Given the description of an element on the screen output the (x, y) to click on. 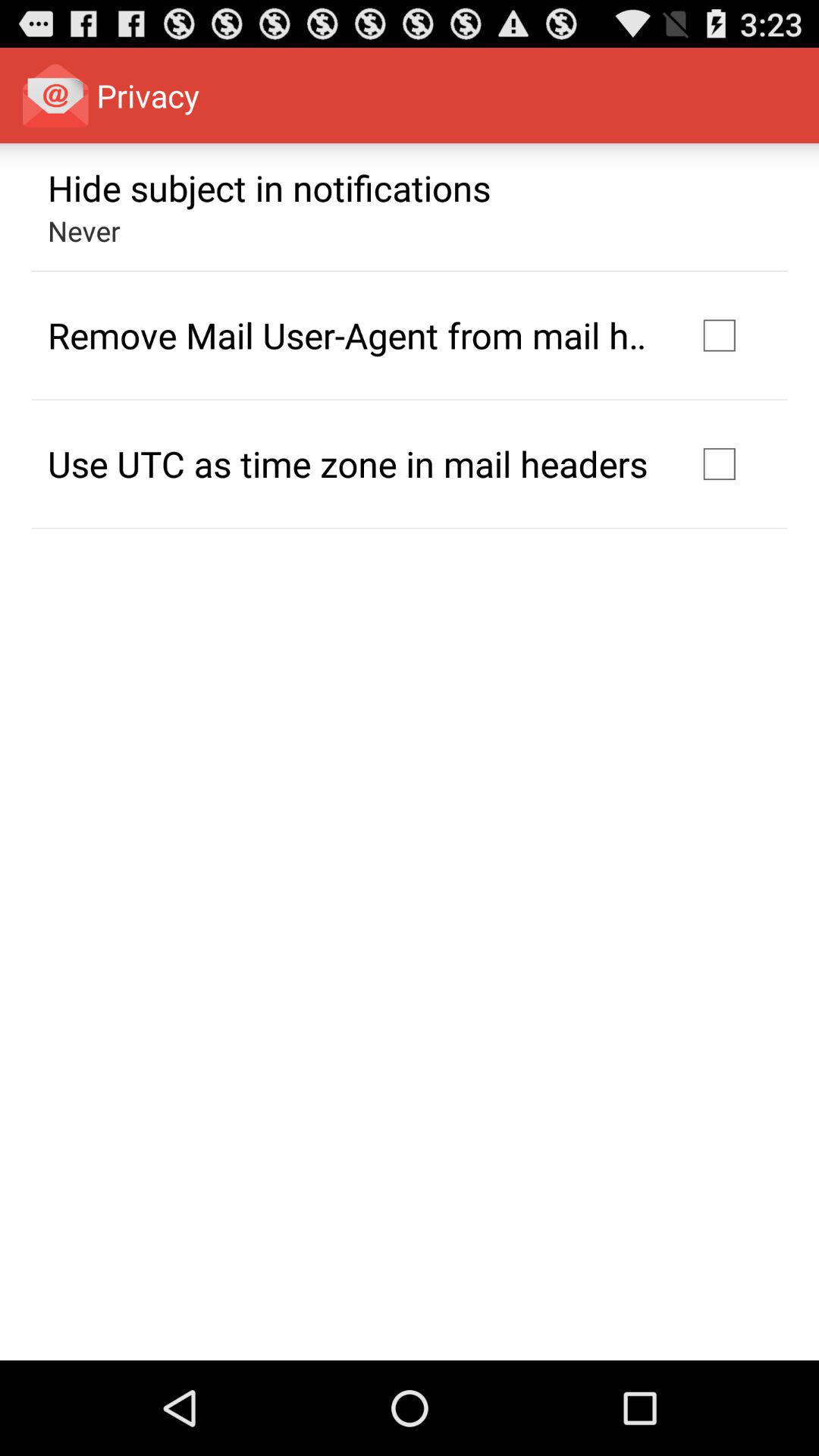
turn off the app above use utc as icon (351, 335)
